Given the description of an element on the screen output the (x, y) to click on. 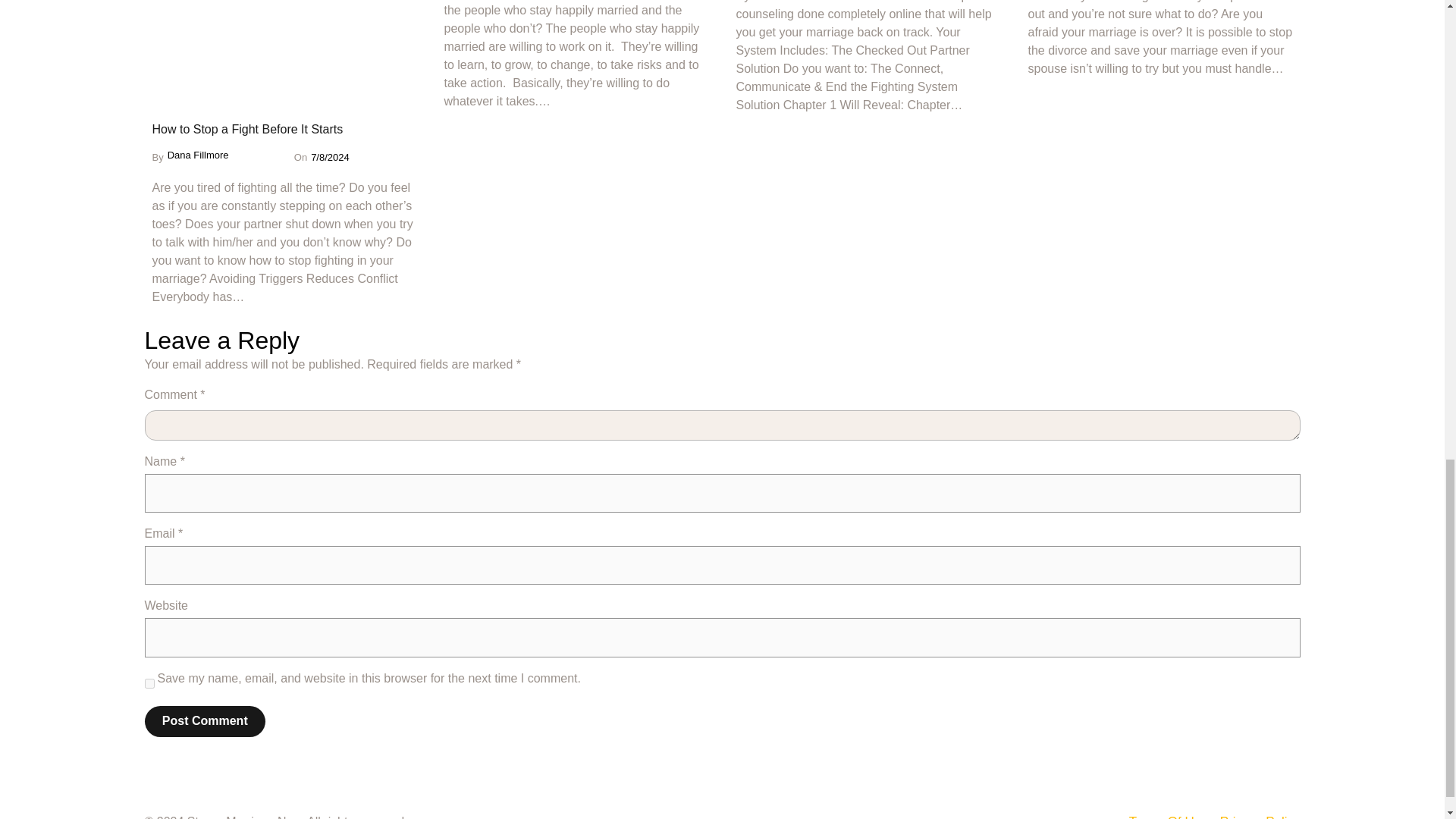
How to Stop a Fight Before It Starts (246, 129)
Post Comment (204, 721)
Post Comment (204, 721)
